Given the description of an element on the screen output the (x, y) to click on. 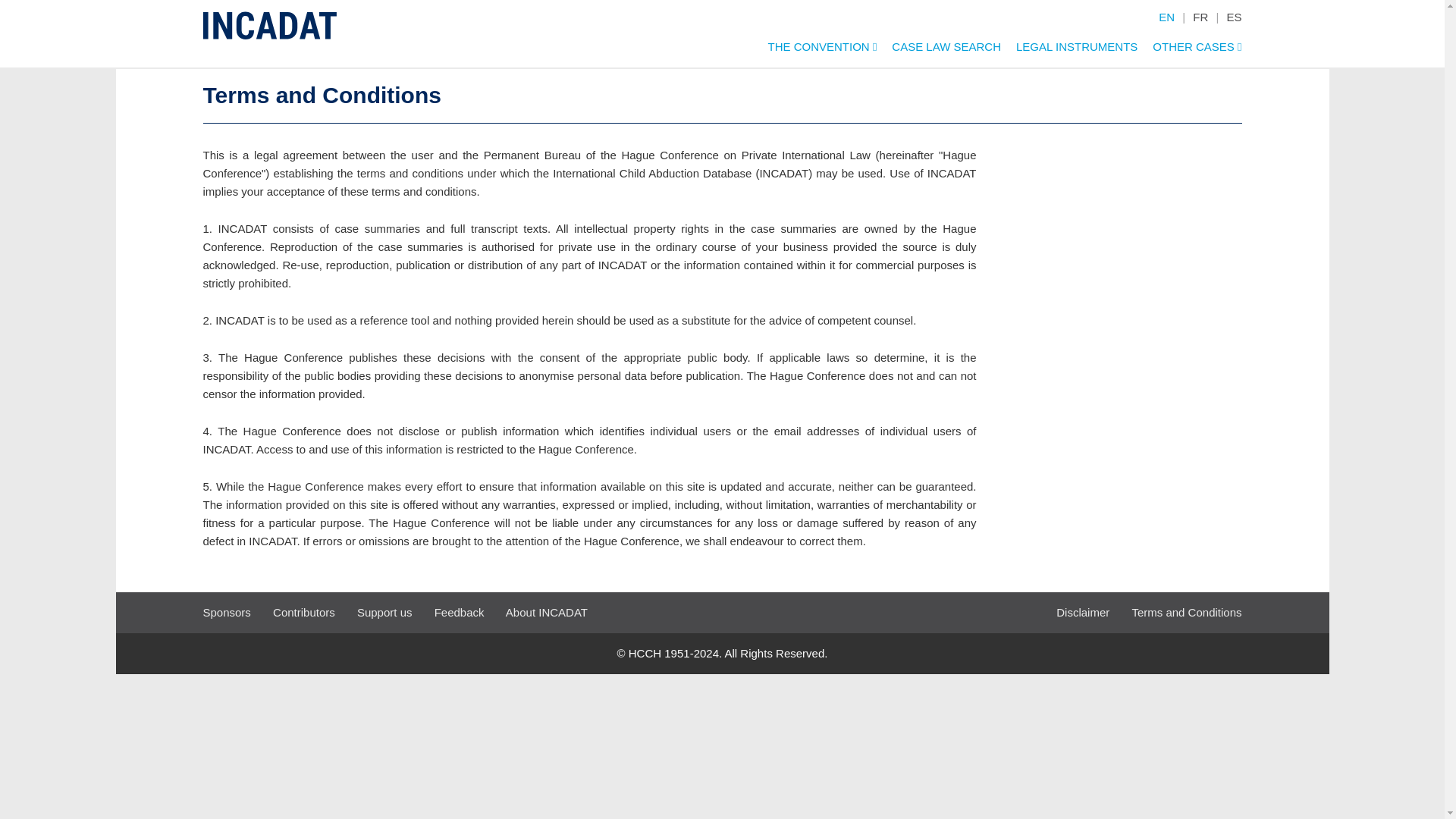
THE CONVENTION (814, 50)
CASE LAW SEARCH (938, 50)
ES (1233, 16)
LEGAL INSTRUMENTS (1069, 50)
EN (1166, 16)
FR (1200, 16)
OTHER CASES (1189, 50)
